Given the description of an element on the screen output the (x, y) to click on. 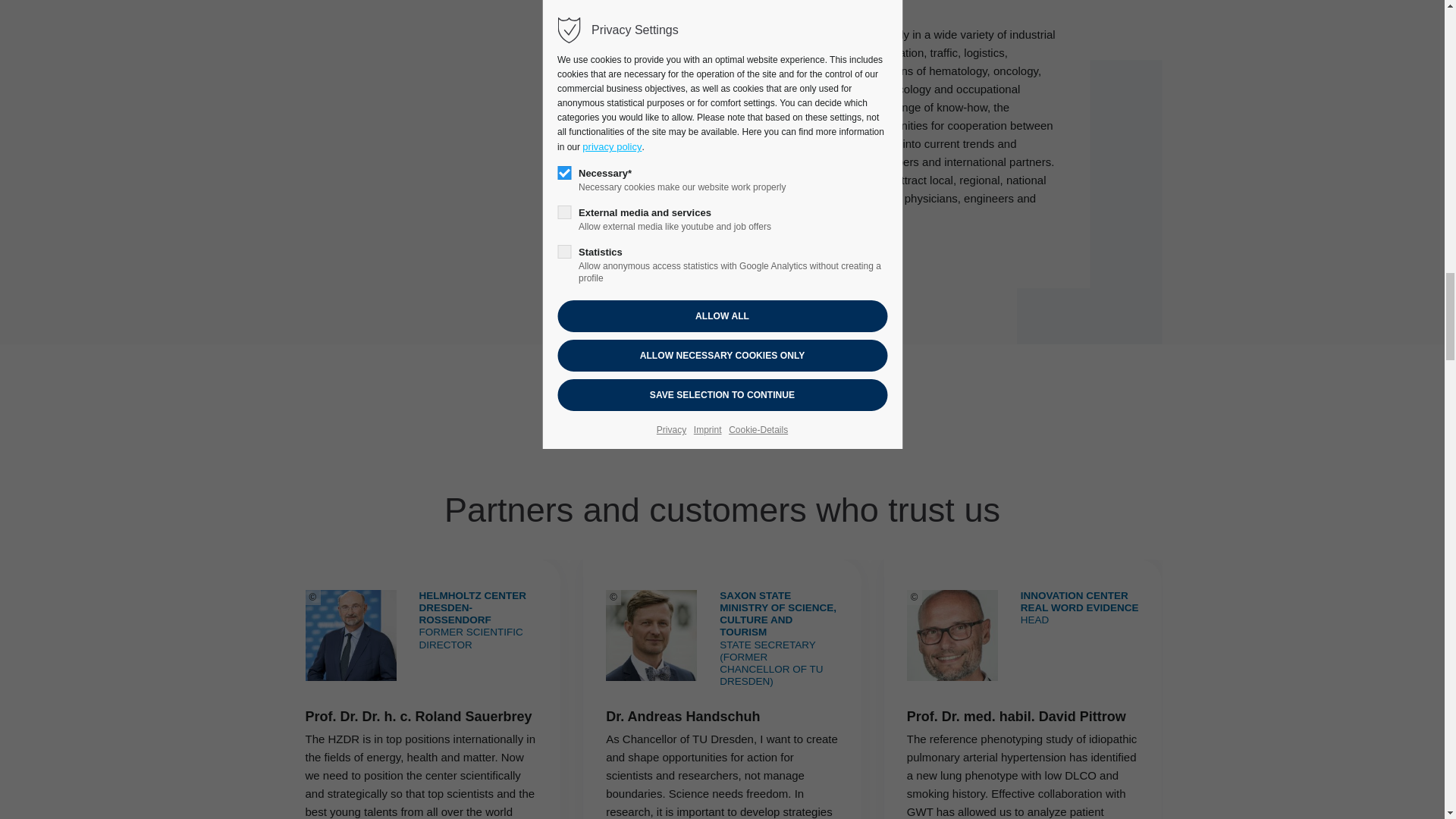
LEARN MORE EVENTS (705, 246)
